Given the description of an element on the screen output the (x, y) to click on. 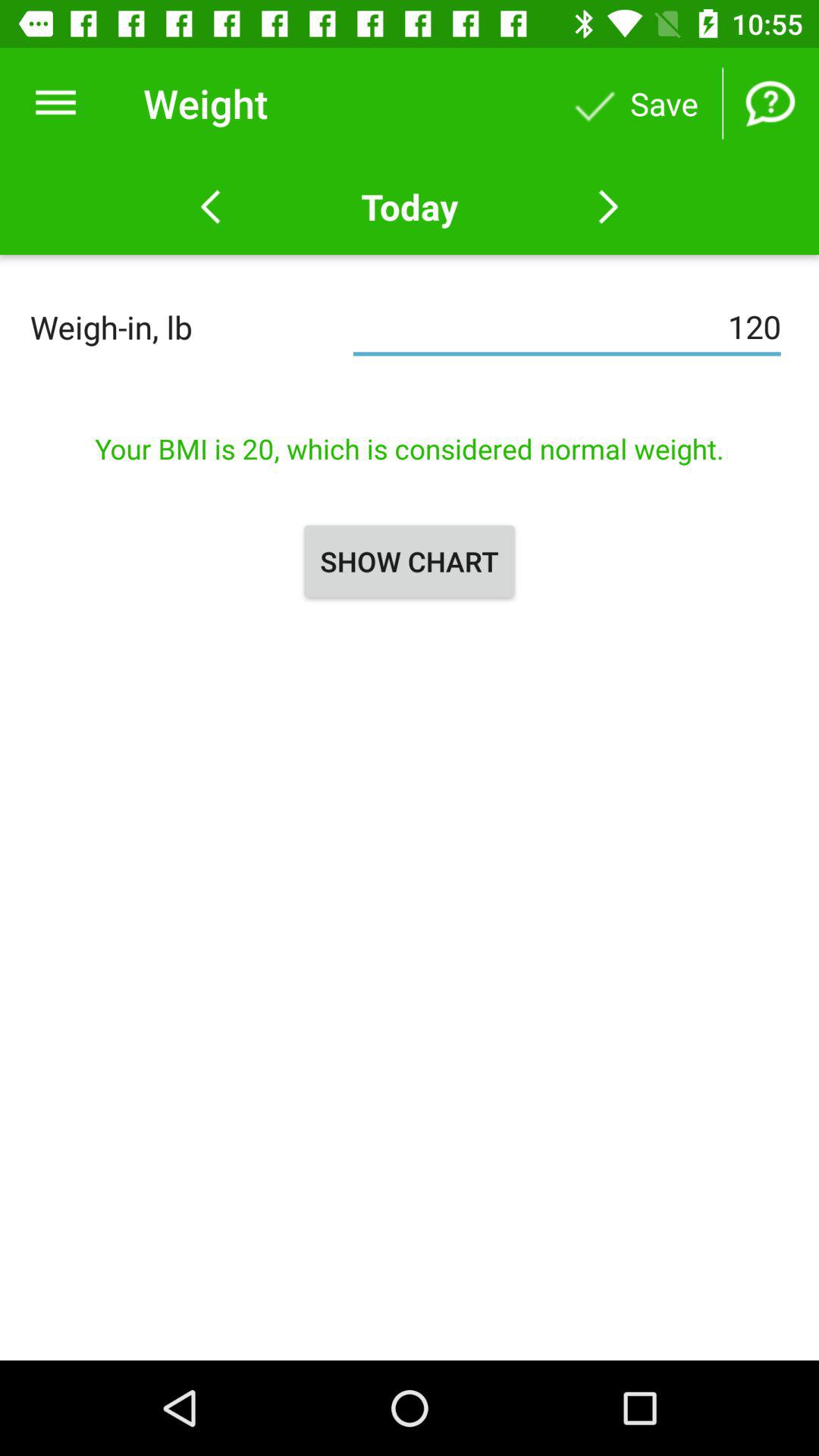
go back (210, 206)
